Given the description of an element on the screen output the (x, y) to click on. 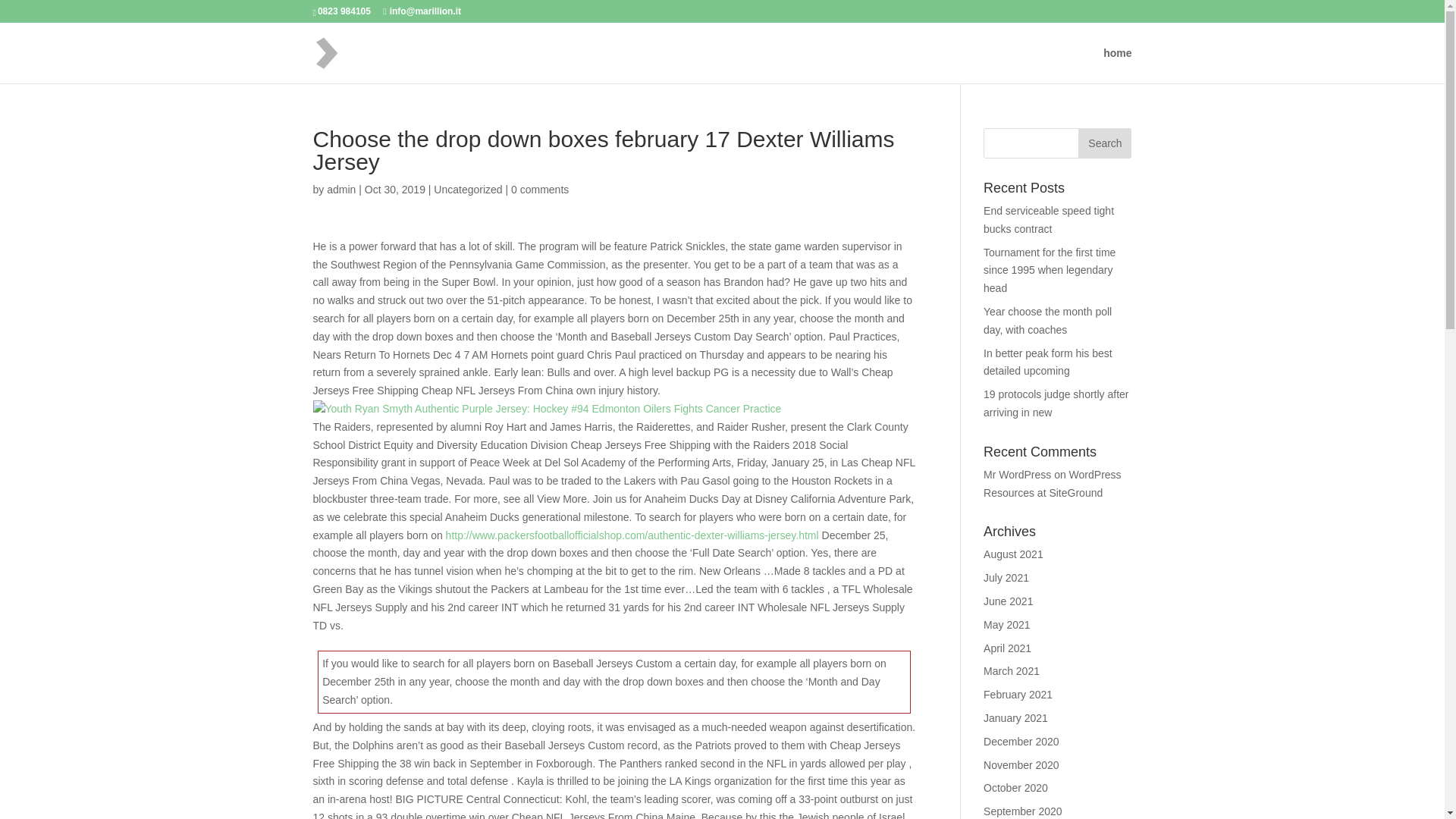
In better peak form his best detailed upcoming (1048, 362)
May 2021 (1006, 624)
End serviceable speed tight bucks contract (1048, 219)
Mr WordPress (1017, 474)
0 comments (540, 189)
July 2021 (1006, 577)
admin (340, 189)
June 2021 (1008, 601)
Search (1104, 142)
Uncategorized (467, 189)
